Given the description of an element on the screen output the (x, y) to click on. 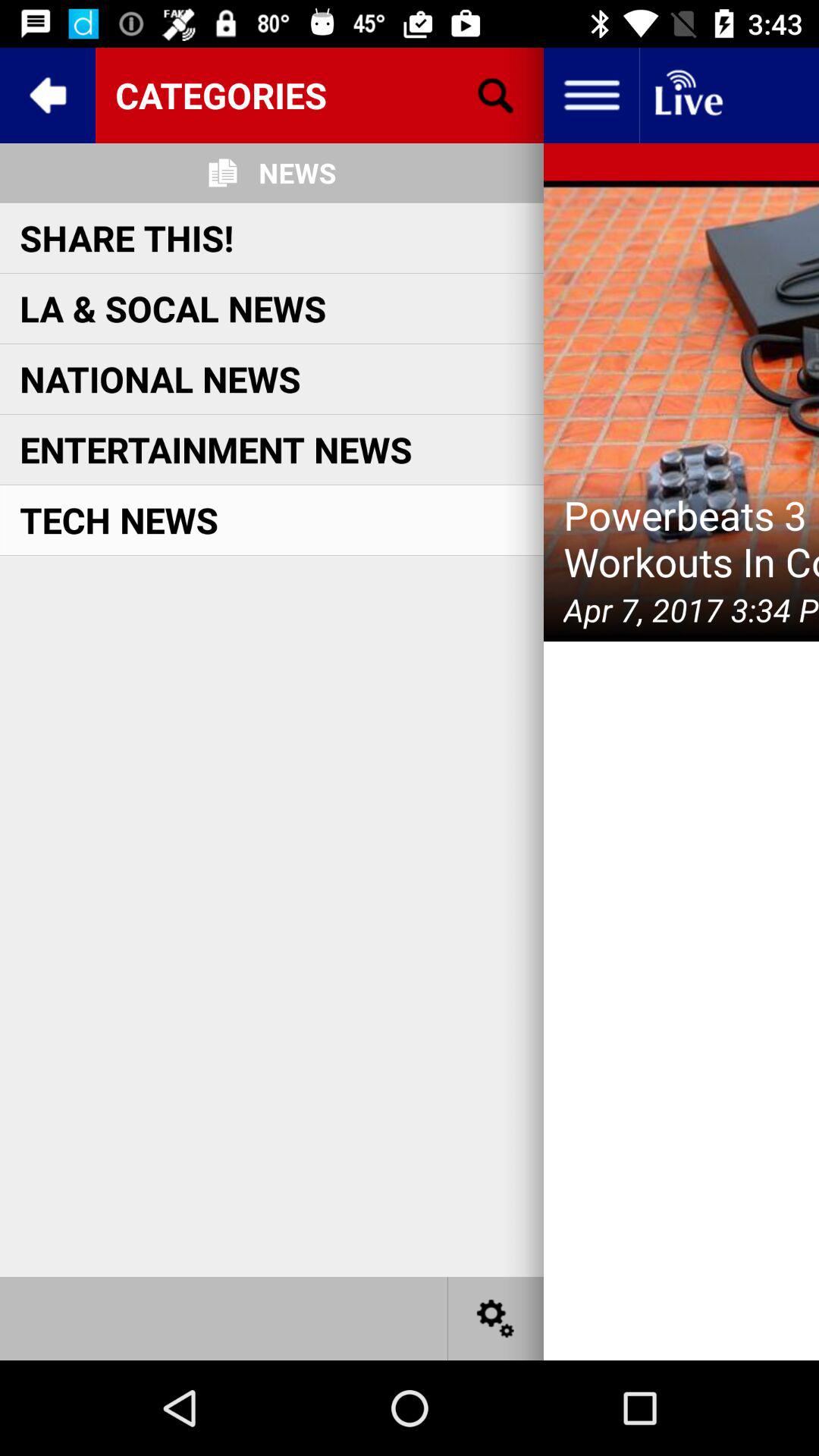
settings (495, 1318)
